Given the description of an element on the screen output the (x, y) to click on. 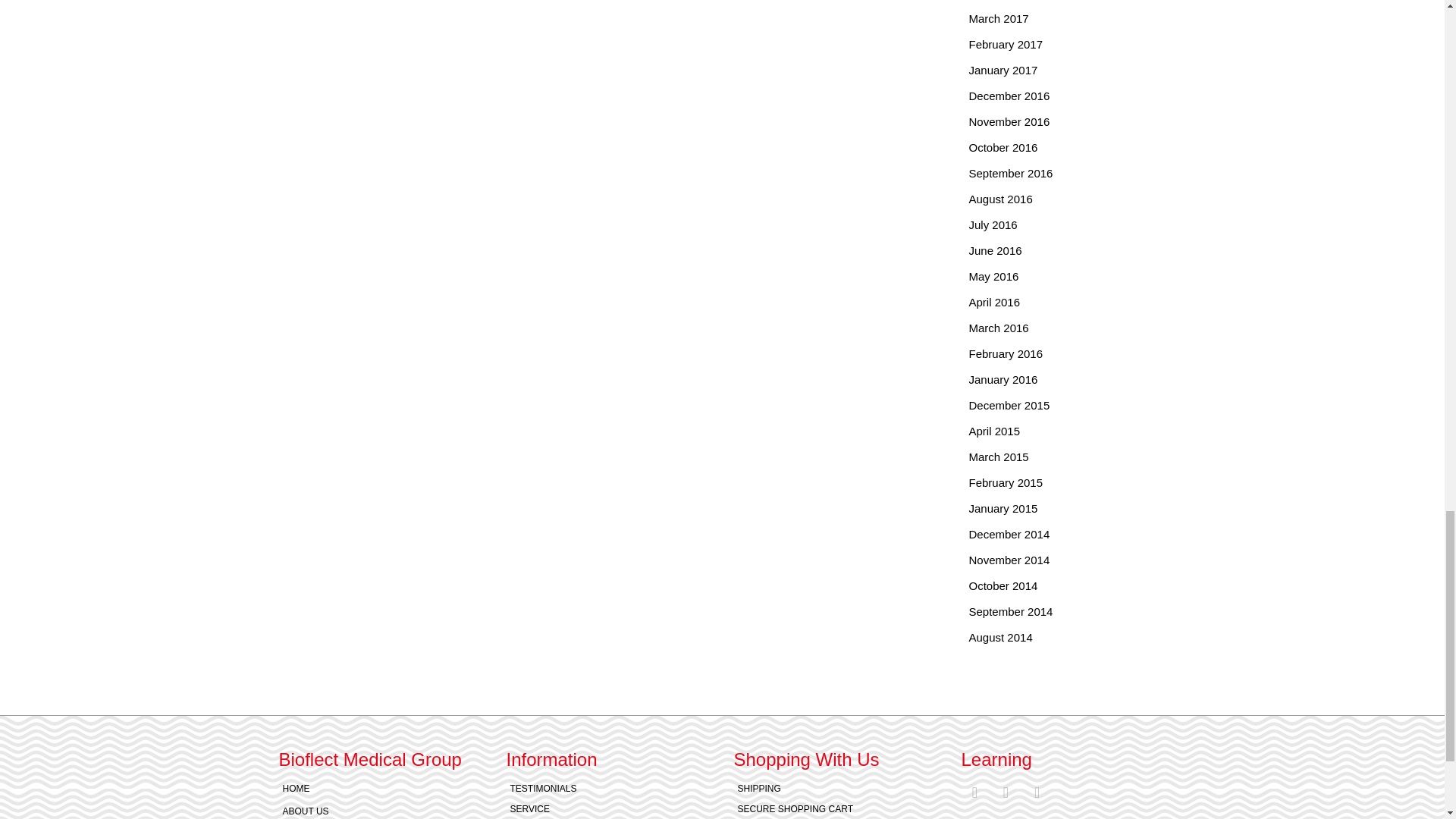
Follow Us on Twitter (1037, 792)
Like Us on Facebook (1005, 792)
Subscribe to our Blog (974, 792)
